Given the description of an element on the screen output the (x, y) to click on. 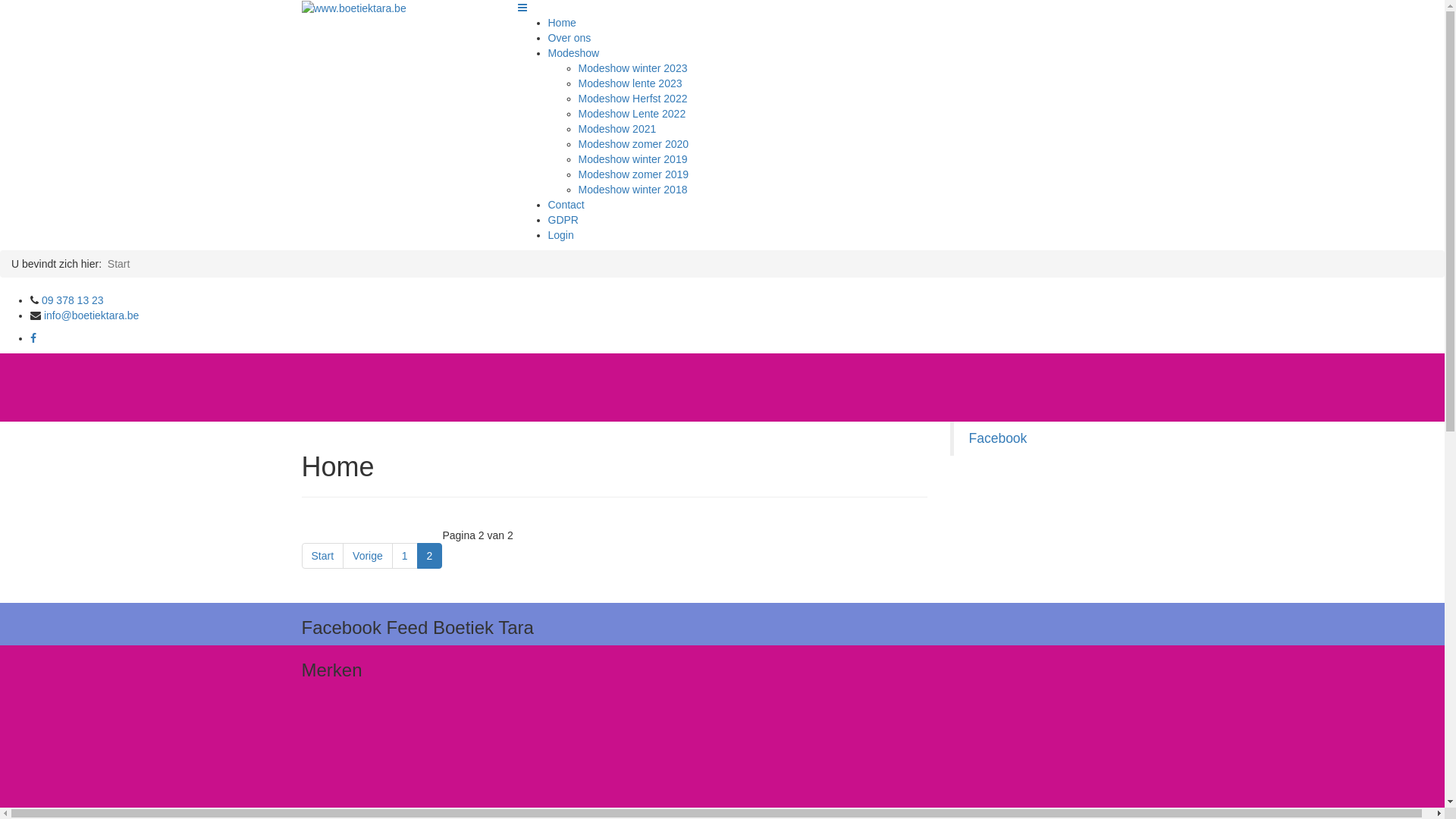
Home Element type: text (561, 22)
Contact Element type: text (565, 204)
Modeshow winter 2023 Element type: text (632, 68)
Modeshow Lente 2022 Element type: text (631, 113)
GDPR Element type: text (562, 219)
Start Element type: text (322, 555)
Login Element type: text (560, 235)
Modeshow 2021 Element type: text (616, 128)
1 Element type: text (404, 555)
09 378 13 23 Element type: text (72, 300)
info@boetiektara.be Element type: text (91, 315)
Modeshow winter 2019 Element type: text (632, 159)
Over ons Element type: text (568, 37)
Modeshow winter 2018 Element type: text (632, 189)
2 Element type: text (429, 555)
Vorige Element type: text (367, 555)
Modeshow zomer 2020 Element type: text (632, 144)
Modeshow zomer 2019 Element type: text (632, 174)
Menu Element type: hover (521, 7)
Modeshow Herfst 2022 Element type: text (632, 98)
Modeshow Element type: text (573, 53)
Facebook Element type: text (998, 437)
Modeshow lente 2023 Element type: text (629, 83)
